Given the description of an element on the screen output the (x, y) to click on. 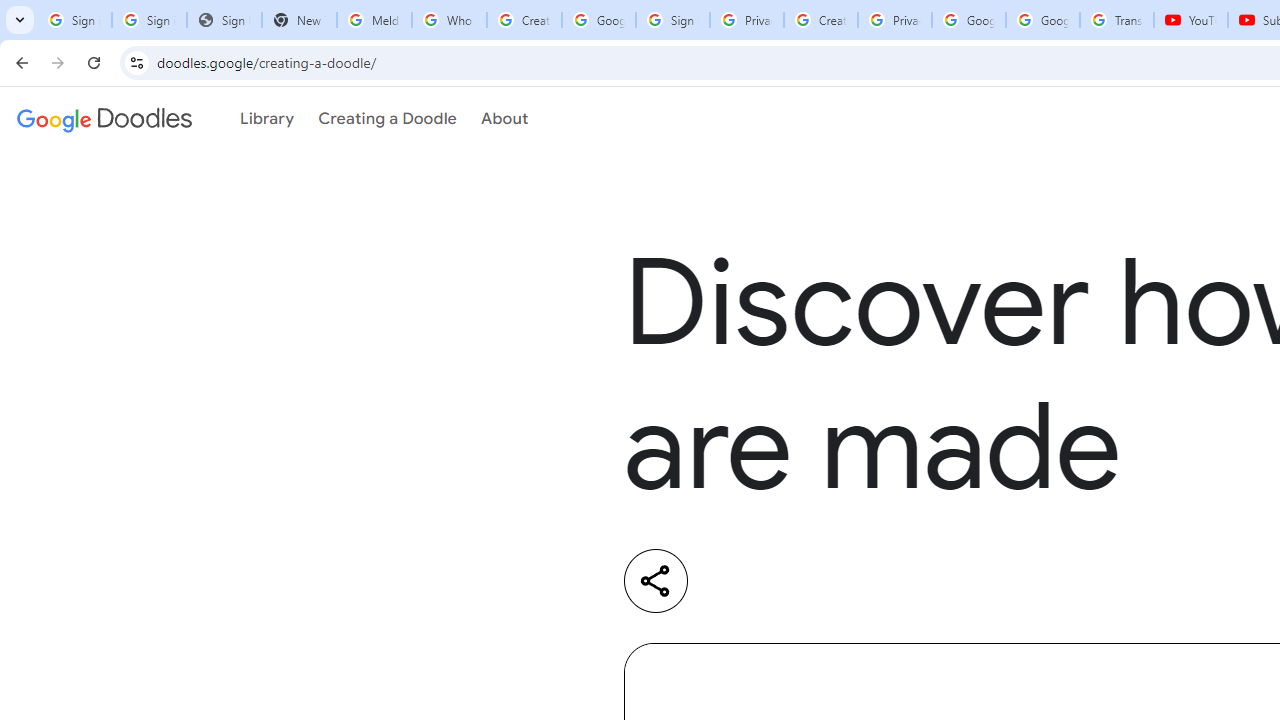
Share on Linkedin (736, 581)
Creating a Doodle (387, 119)
Google doodles (104, 119)
Share on twitter (818, 581)
Sign in - Google Accounts (148, 20)
New Tab (299, 20)
Library (267, 119)
